Given the description of an element on the screen output the (x, y) to click on. 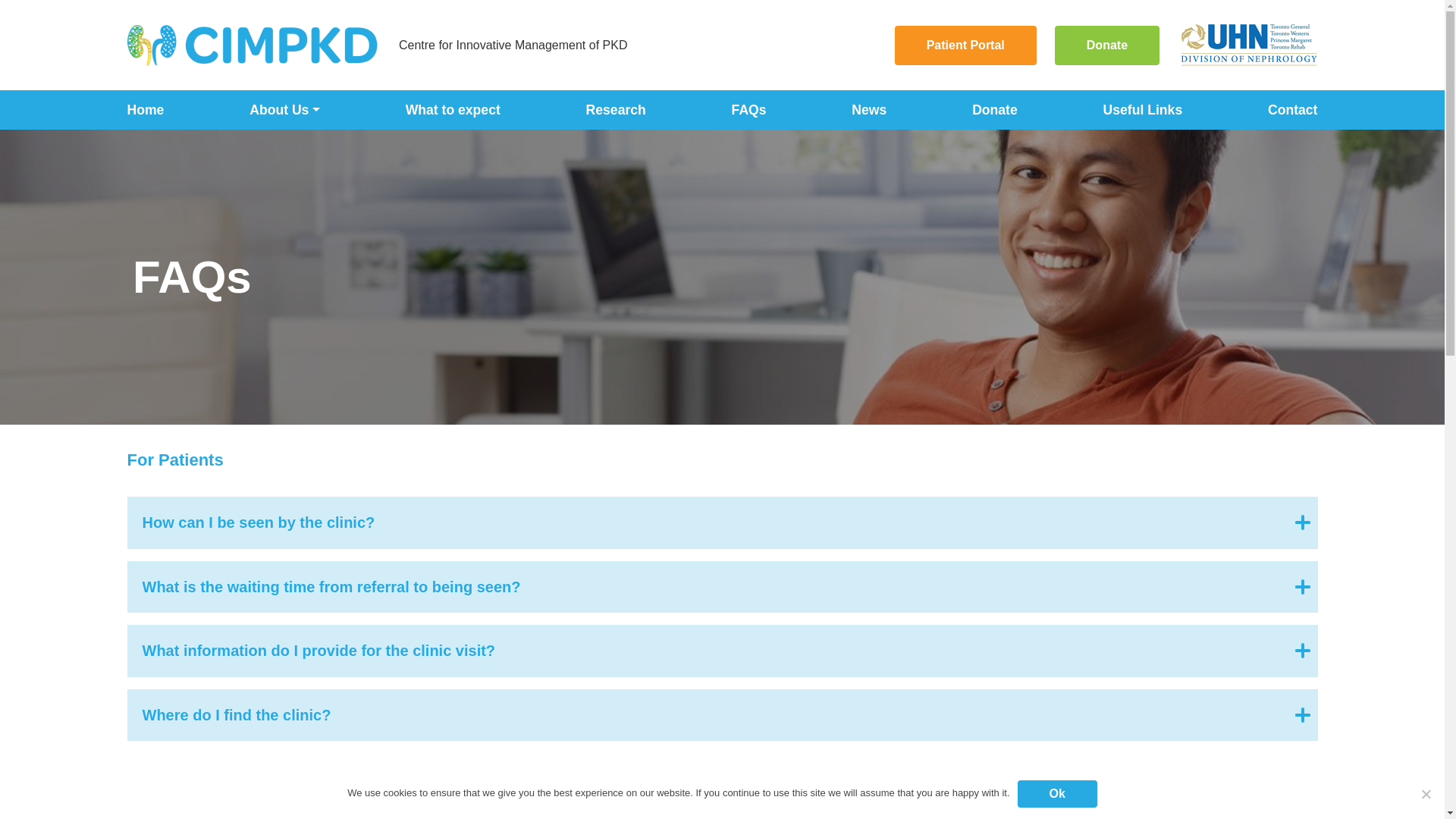
Useful Links (1142, 109)
Home (146, 109)
Research (616, 109)
Donate (1106, 45)
Donate (994, 109)
About Us (284, 109)
Patient Portal (70, 45)
Home (146, 109)
Useful Links (1142, 109)
What to expect (453, 109)
Research (616, 109)
No (1425, 793)
Donate (994, 109)
What to expect (453, 109)
Contact (1292, 109)
